Given the description of an element on the screen output the (x, y) to click on. 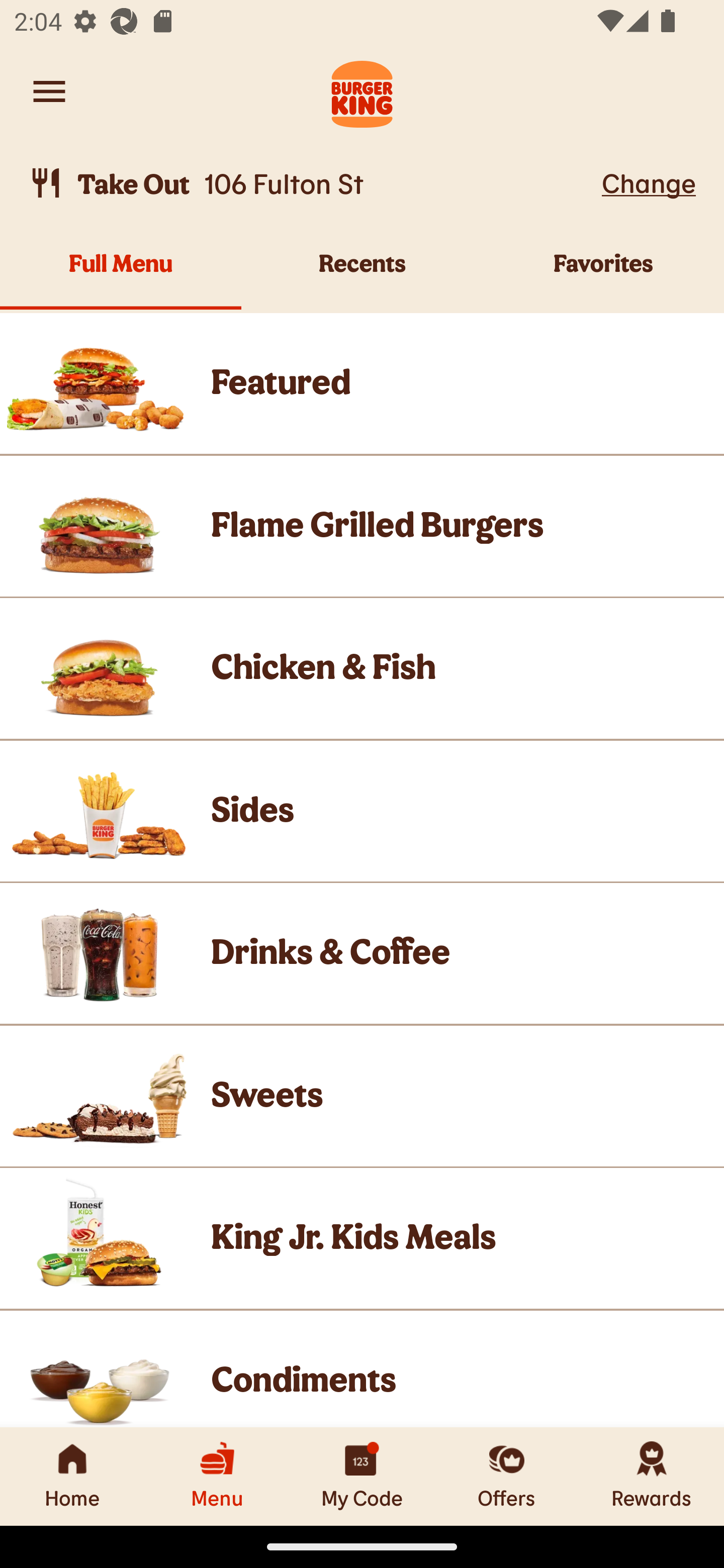
Burger King Logo. Navigate to Home (362, 91)
Navigate to account menu  (49, 91)
Take Out, 106 Fulton St  Take Out 106 Fulton St (311, 183)
Change (648, 182)
Full Menu (120, 273)
Recents (361, 273)
Favorites (603, 273)
Product Image, Featured Product Image Featured (362, 383)
Product Image, Sides Product Image Sides (362, 810)
Product Image, Sweets Product Image Sweets (362, 1095)
Product Image, Condiments Product Image Condiments (362, 1368)
Home (72, 1475)
Menu (216, 1475)
My Code (361, 1475)
Offers (506, 1475)
Rewards (651, 1475)
